Given the description of an element on the screen output the (x, y) to click on. 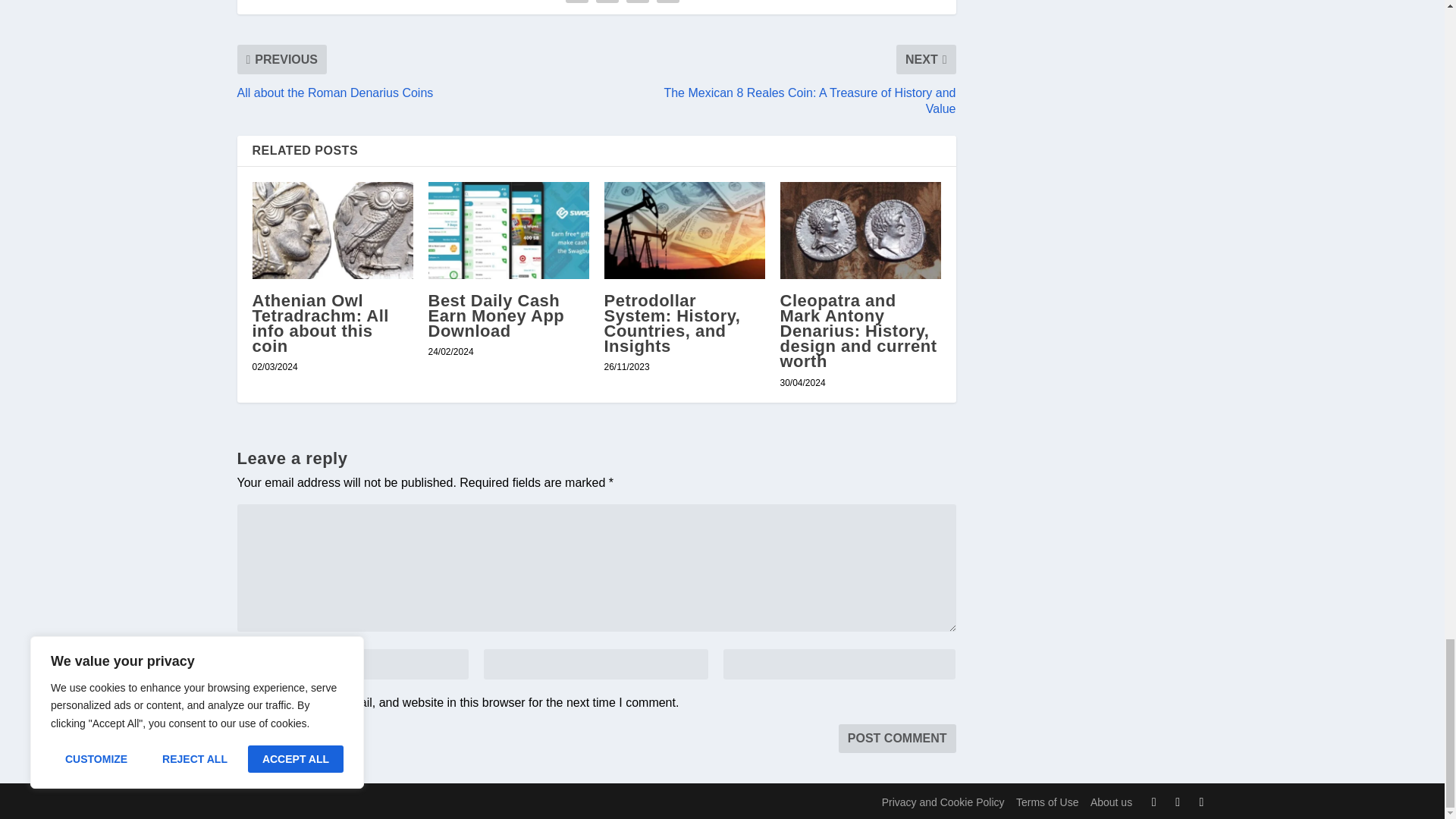
Share "All info about Japanese Wado Kaichin" via Facebook (577, 3)
Athenian Owl Tetradrachm: All info about this coin (331, 229)
Share "All info about Japanese Wado Kaichin" via LinkedIn (637, 3)
yes (244, 701)
Best Daily Cash Earn Money App Download (508, 229)
Share "All info about Japanese Wado Kaichin" via Twitter (607, 3)
Post Comment (897, 737)
Share "All info about Japanese Wado Kaichin" via Email (667, 3)
Petrodollar System: History, Countries, and Insights (684, 229)
